Given the description of an element on the screen output the (x, y) to click on. 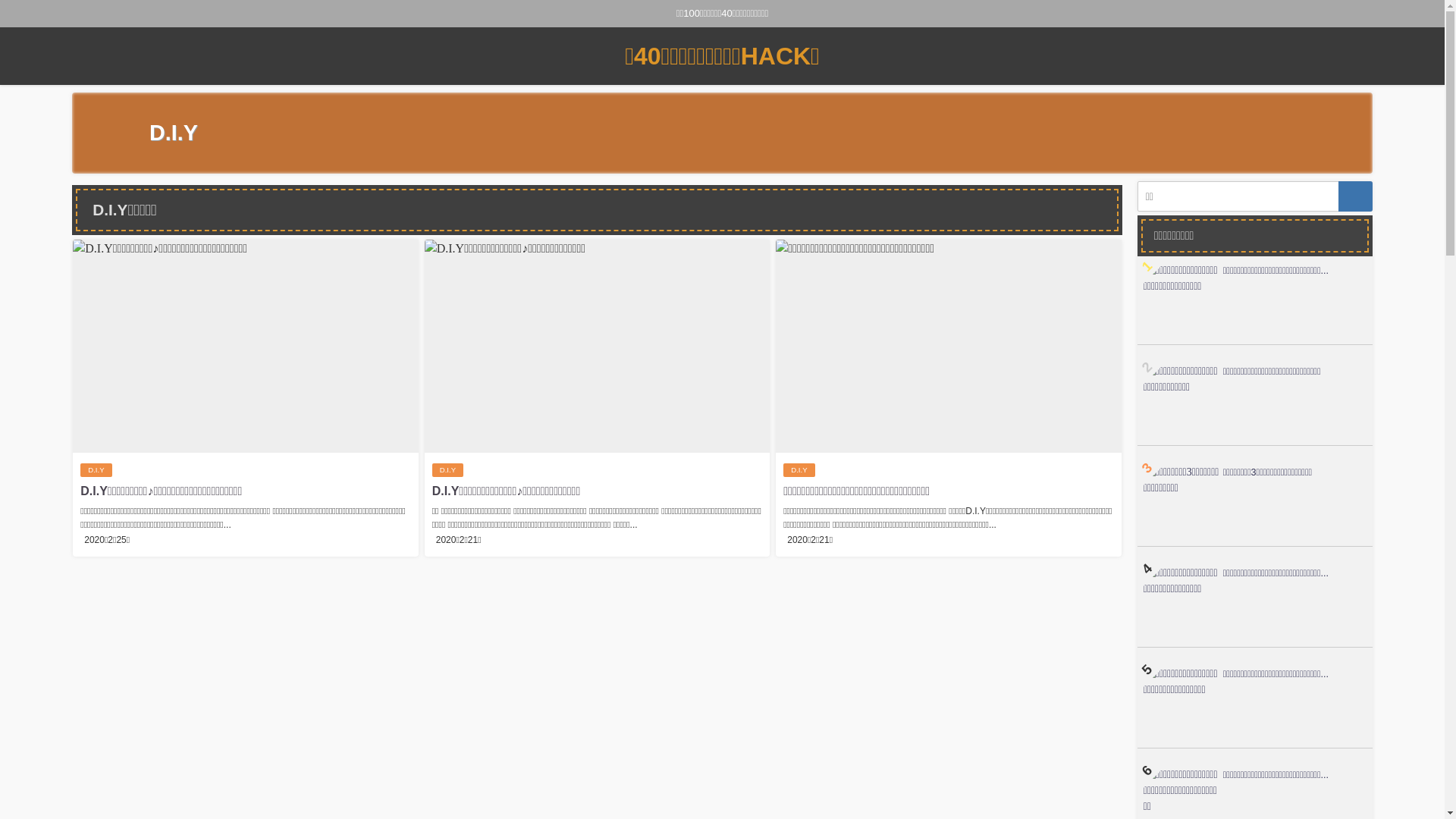
D.I.Y Element type: text (447, 469)
D.I.Y Element type: text (95, 469)
D.I.Y Element type: text (798, 469)
